Given the description of an element on the screen output the (x, y) to click on. 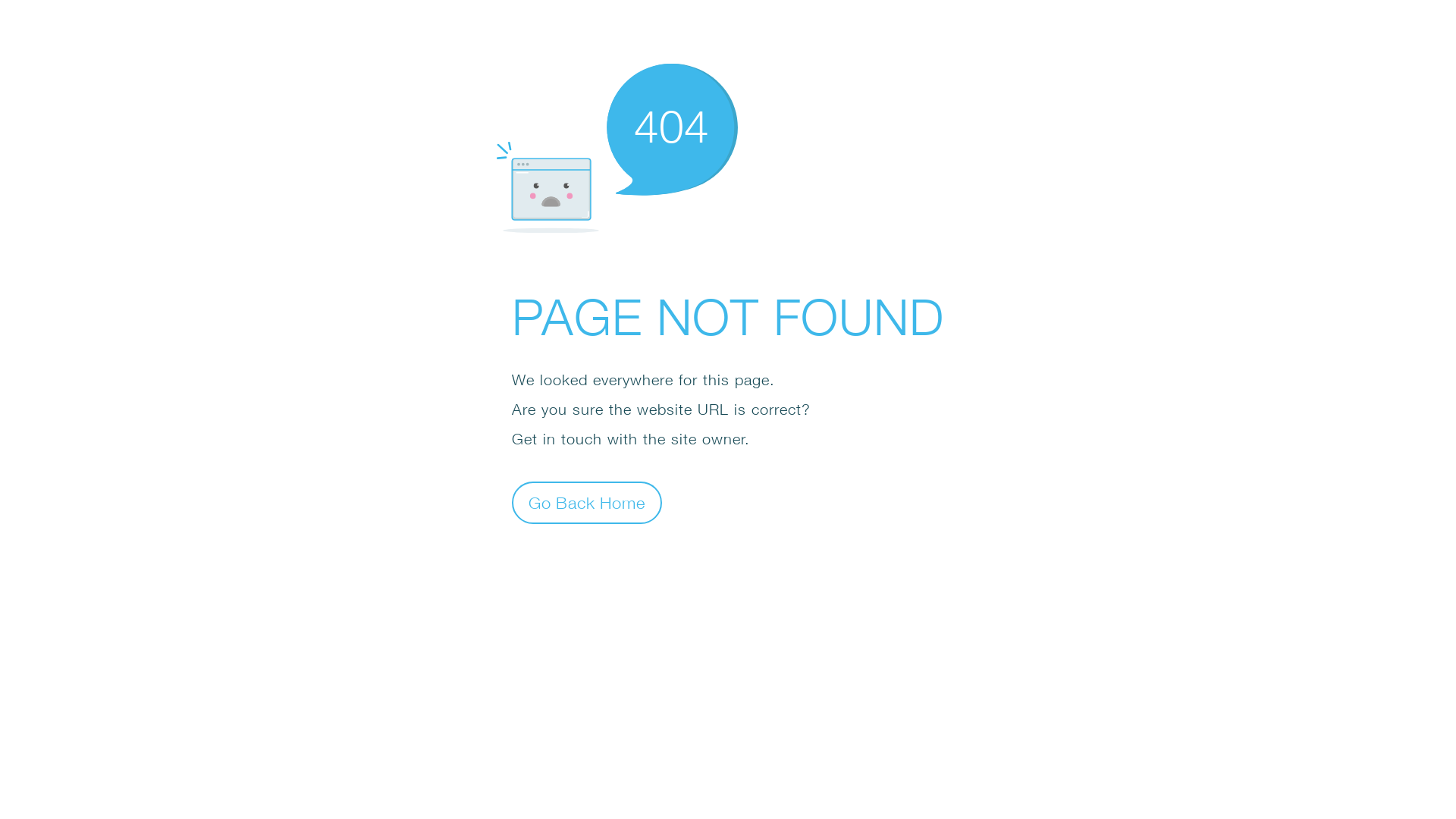
Go Back Home Element type: text (586, 502)
